Given the description of an element on the screen output the (x, y) to click on. 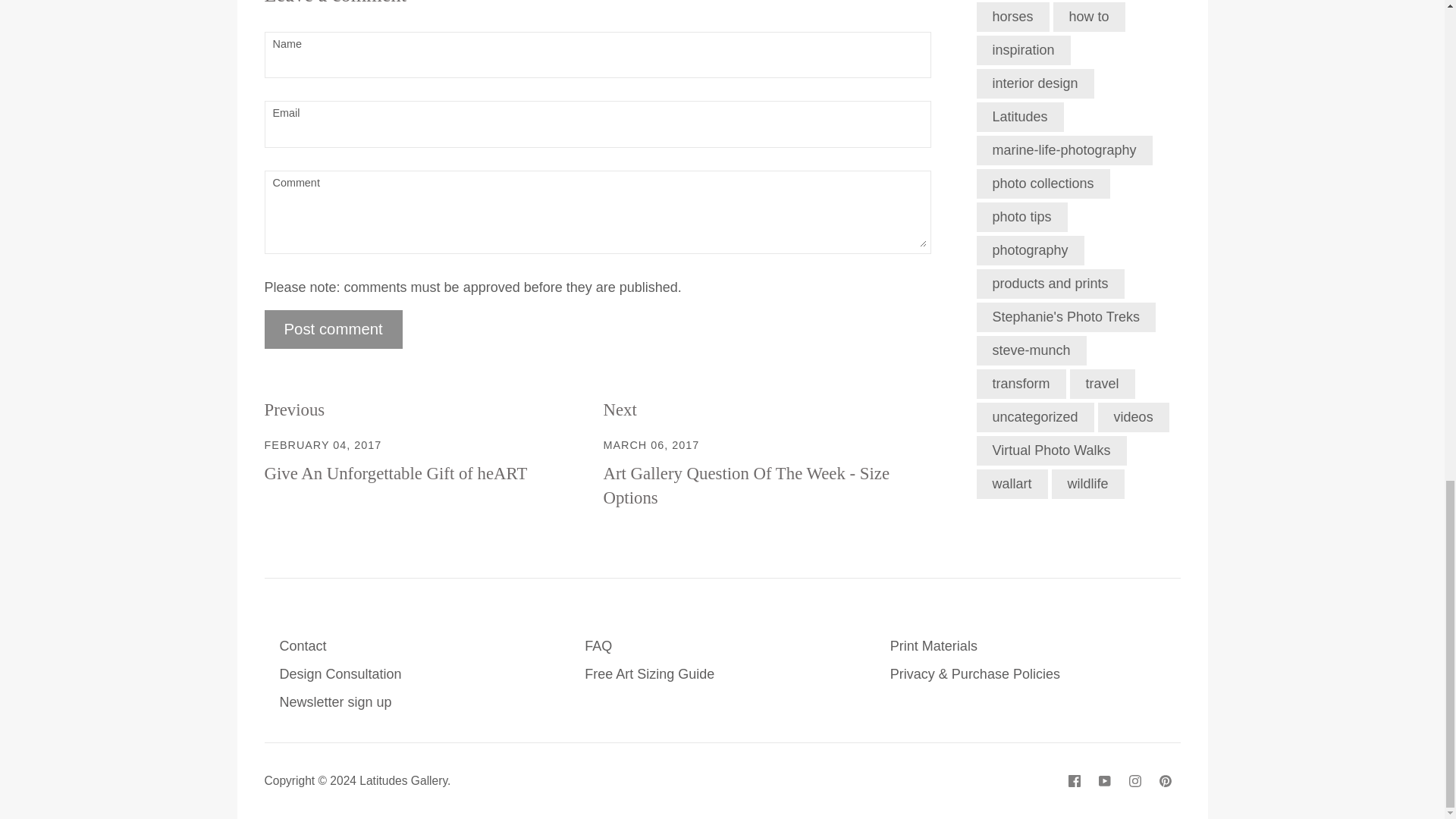
Post comment (332, 329)
